Given the description of an element on the screen output the (x, y) to click on. 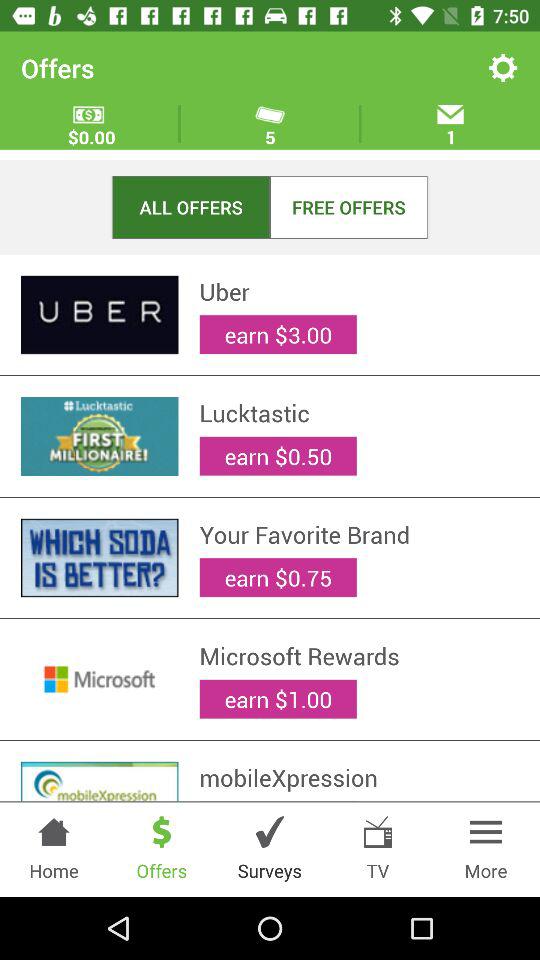
choose item below the all offers (359, 291)
